Given the description of an element on the screen output the (x, y) to click on. 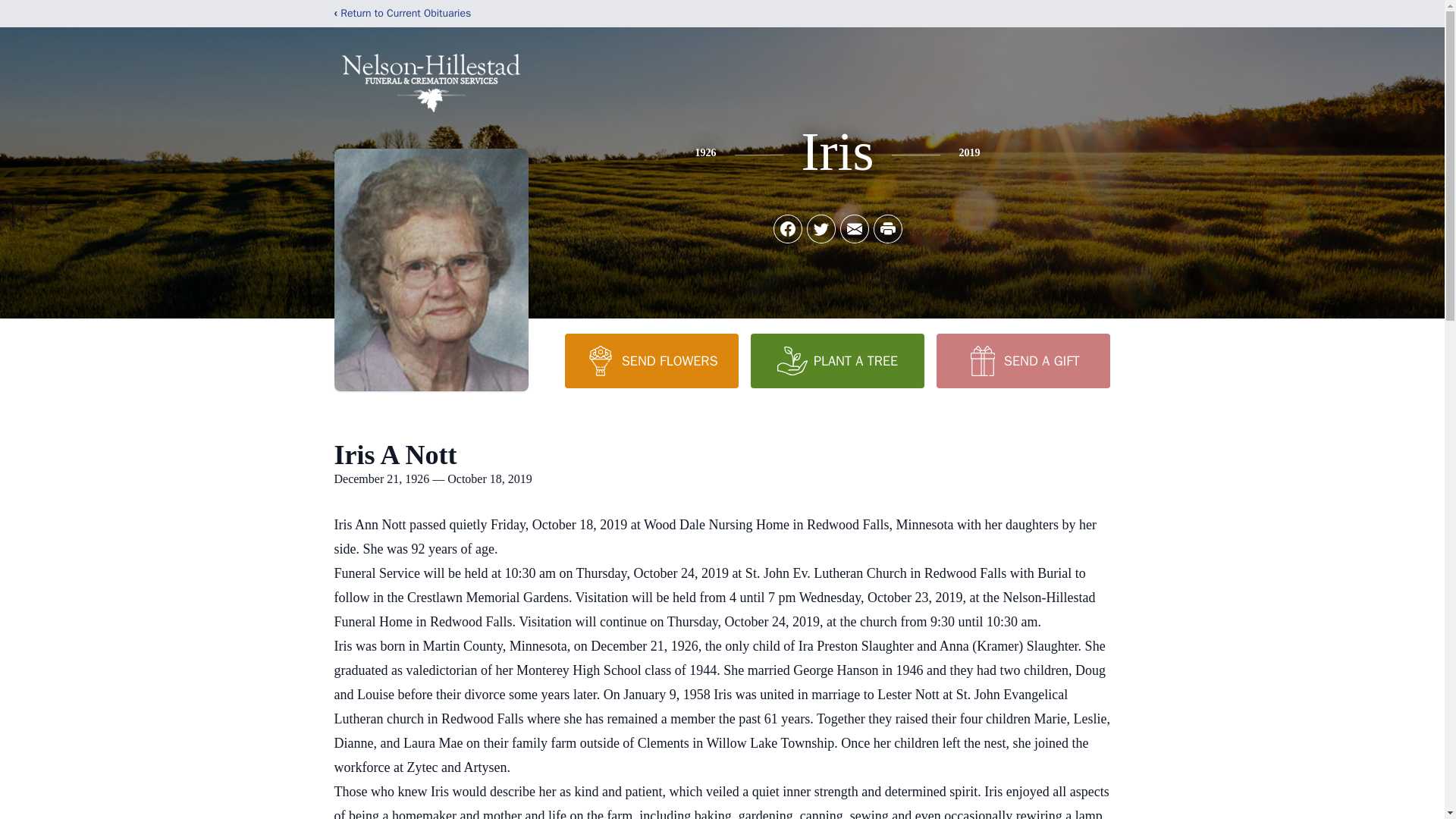
SEND FLOWERS (651, 360)
PLANT A TREE (837, 360)
SEND A GIFT (1022, 360)
